Given the description of an element on the screen output the (x, y) to click on. 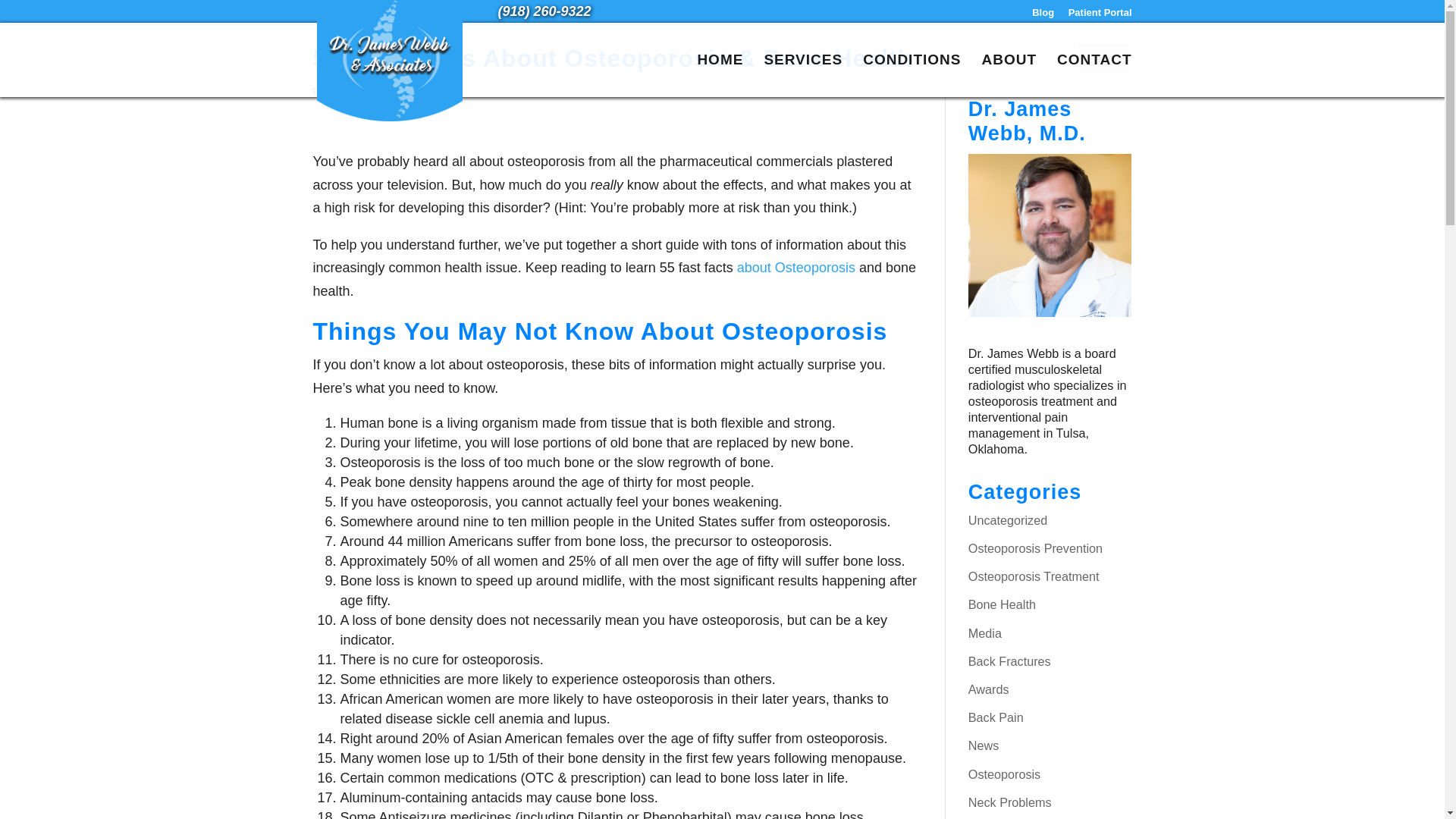
Osteoporosis (1004, 774)
about Osteoporosis (796, 267)
ABOUT (1008, 75)
Back Fractures (1009, 661)
SERVICES (802, 75)
Awards (988, 689)
CONDITIONS (911, 75)
News (983, 745)
HOME (719, 75)
Media (984, 632)
Uncategorized (1007, 520)
Neck Problems (1009, 802)
Back Pain (995, 716)
Search (1104, 59)
CONTACT (1094, 75)
